Given the description of an element on the screen output the (x, y) to click on. 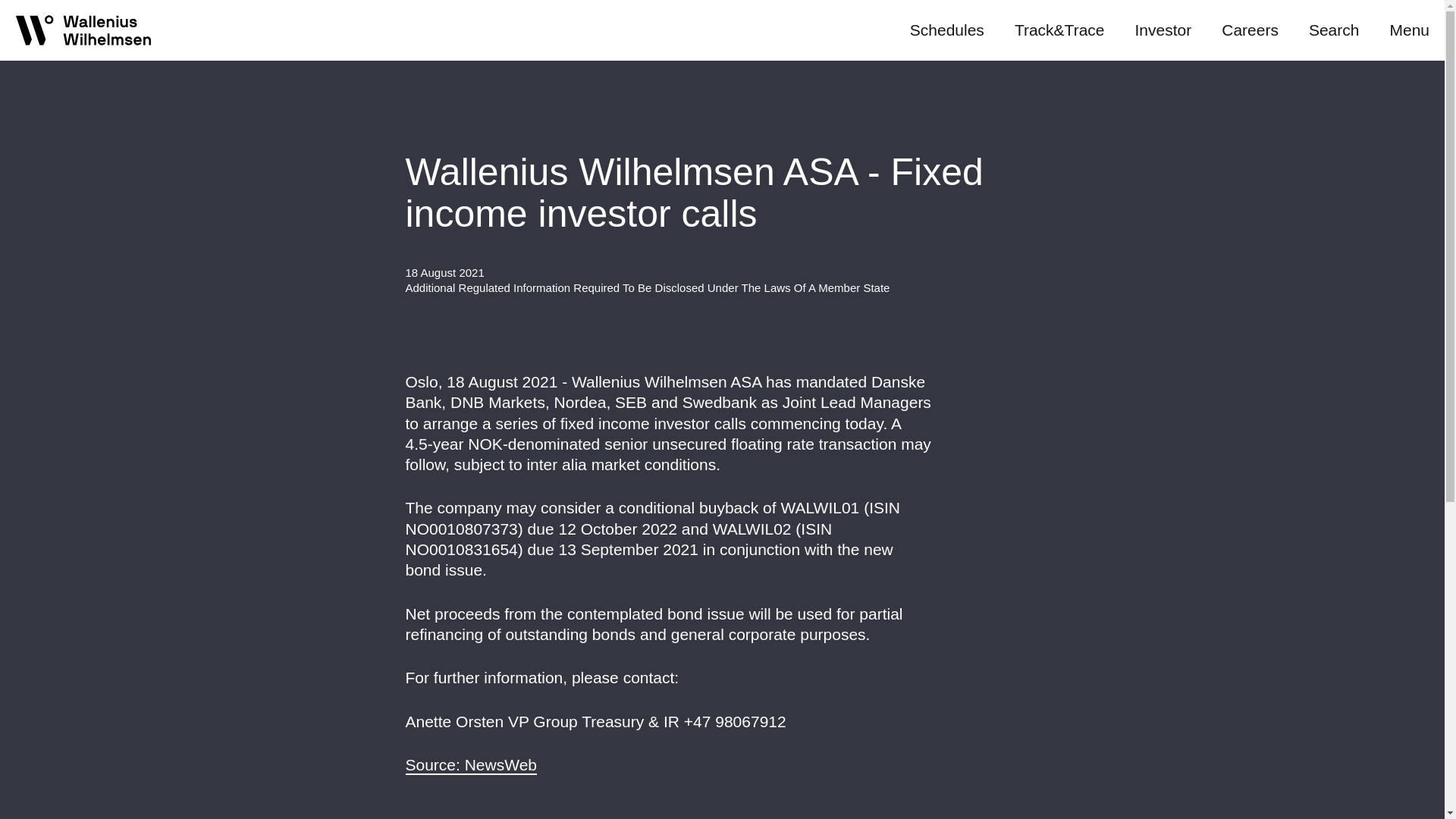
Menu (1409, 30)
Careers (1249, 30)
Schedules (947, 30)
Logo (84, 32)
Investor (1163, 30)
Search (1333, 30)
